Given the description of an element on the screen output the (x, y) to click on. 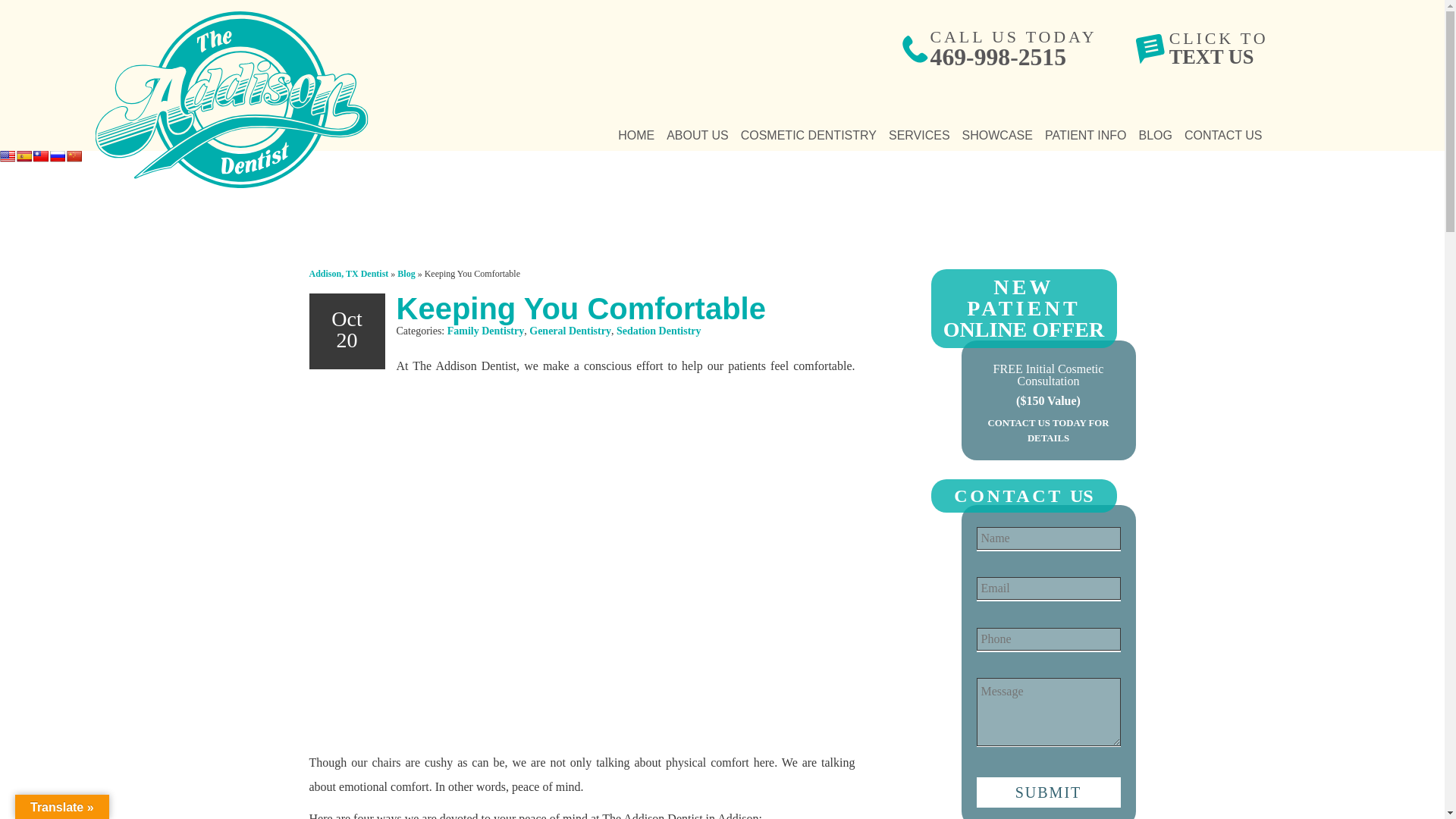
Submit (1048, 792)
COSMETIC DENTISTRY (808, 135)
SERVICES (919, 135)
Russian (57, 155)
HOME (636, 135)
English (1218, 48)
ABOUT US (7, 155)
The Addison Dentist (698, 135)
Spanish (231, 99)
